Given the description of an element on the screen output the (x, y) to click on. 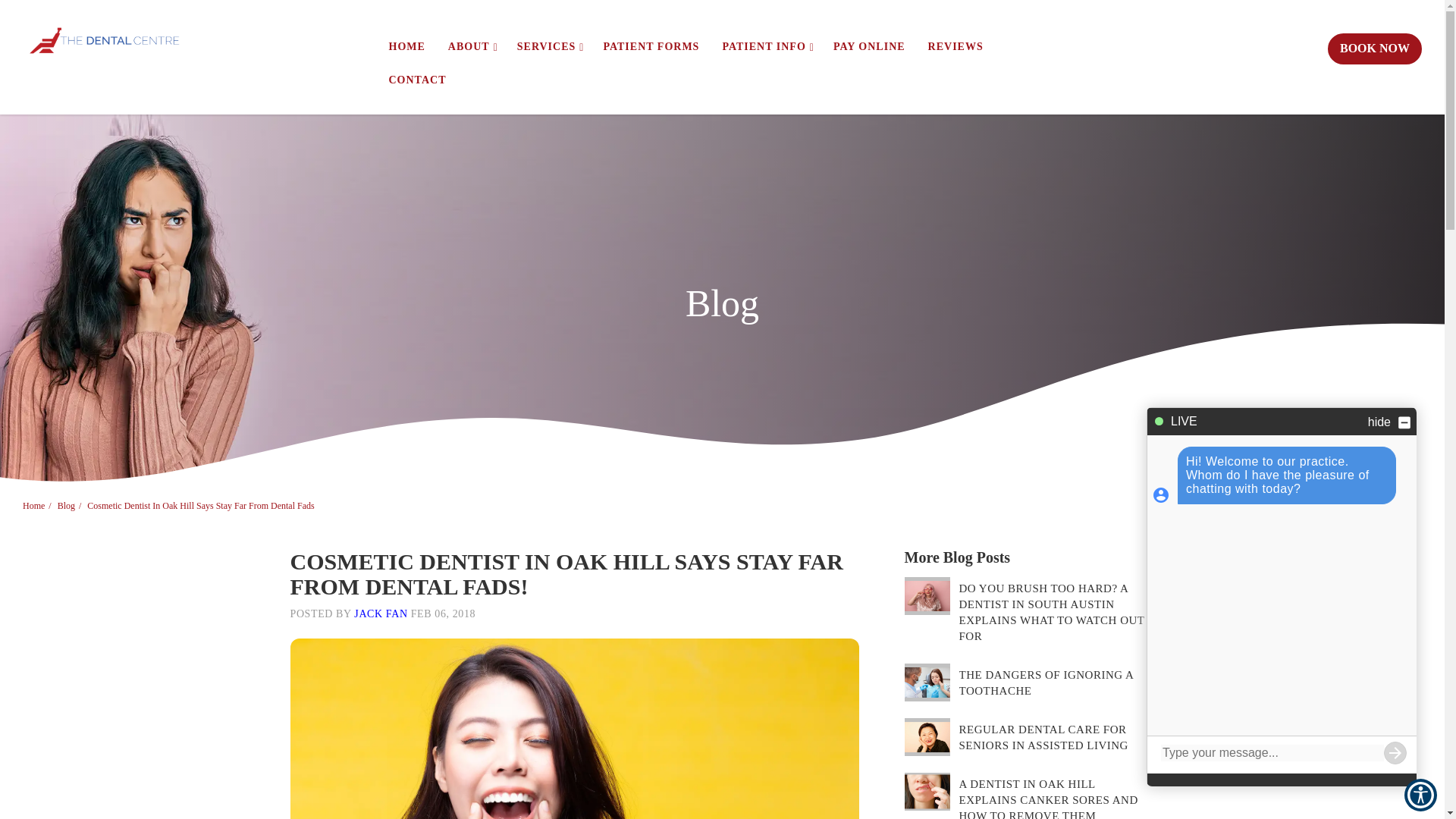
PATIENT FORMS (650, 46)
THE DANGERS OF IGNORING A TOOTHACHE (926, 682)
SERVICES (548, 46)
User way accessibility widget icon (1420, 795)
PATIENT INFO (766, 46)
HOME (406, 46)
ABOUT (470, 46)
Brand Logo (104, 40)
REGULAR DENTAL CARE FOR SENIORS IN ASSISTED LIVING (926, 736)
